Given the description of an element on the screen output the (x, y) to click on. 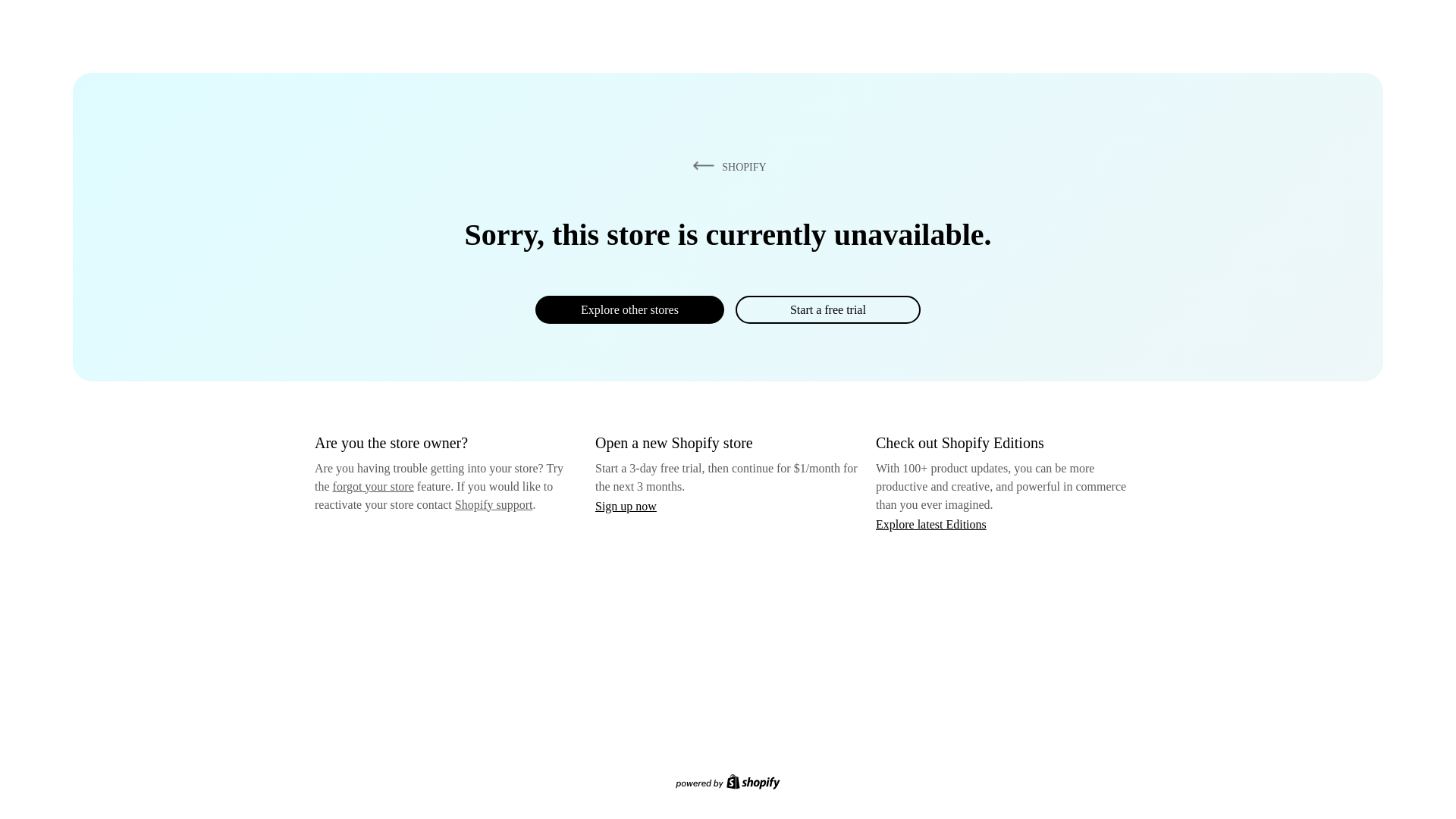
Explore latest Editions (931, 523)
forgot your store (373, 486)
Sign up now (625, 505)
Explore other stores (629, 309)
Shopify support (493, 504)
SHOPIFY (726, 166)
Start a free trial (827, 309)
